Given the description of an element on the screen output the (x, y) to click on. 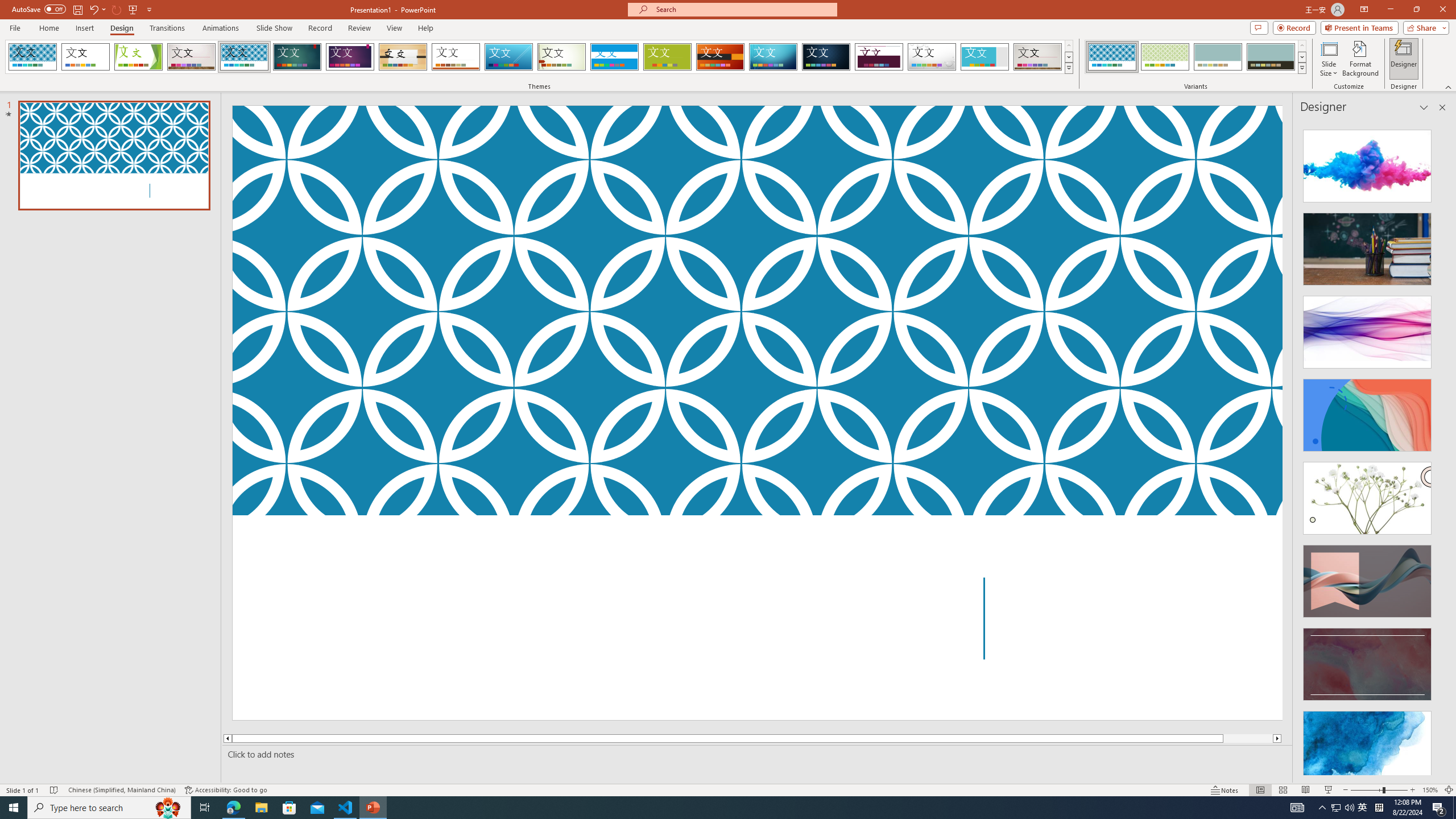
Notes  (1225, 790)
Banded Loading Preview... (614, 56)
Accessibility Checker Accessibility: Good to go (226, 790)
AutomationID: ThemeVariantsGallery (1195, 56)
Ion Boardroom Loading Preview... (350, 56)
Berlin Loading Preview... (720, 56)
Frame Loading Preview... (984, 56)
Themes (1068, 67)
